Given the description of an element on the screen output the (x, y) to click on. 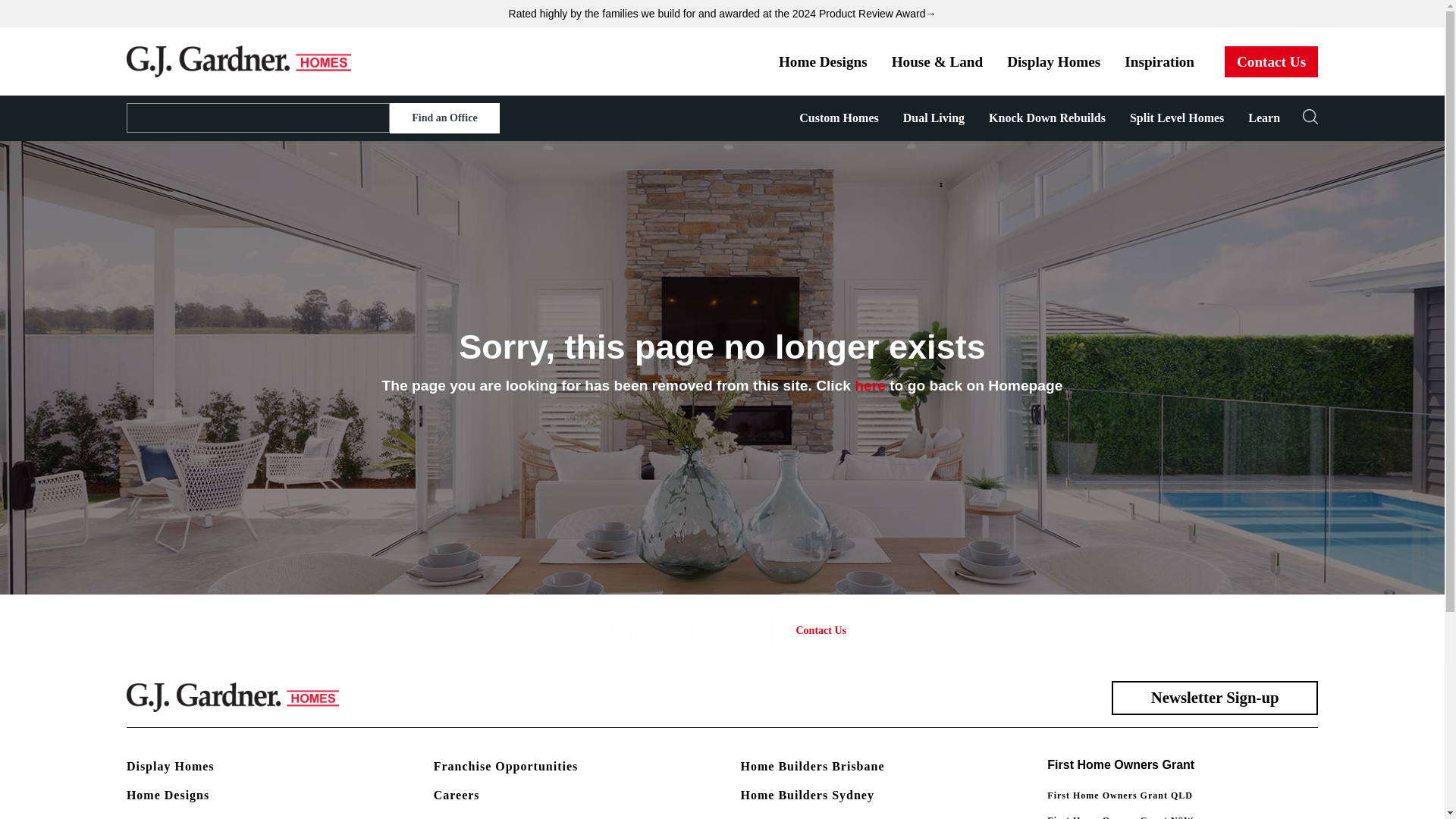
Custom Homes (838, 118)
Find an Office (444, 118)
here (869, 385)
Find an Office (444, 118)
Dual Living (933, 118)
Contact Us (1270, 61)
Display Homes (1053, 61)
Learn (1264, 118)
Home Designs (823, 61)
Knock Down Rebuilds (1047, 118)
